Given the description of an element on the screen output the (x, y) to click on. 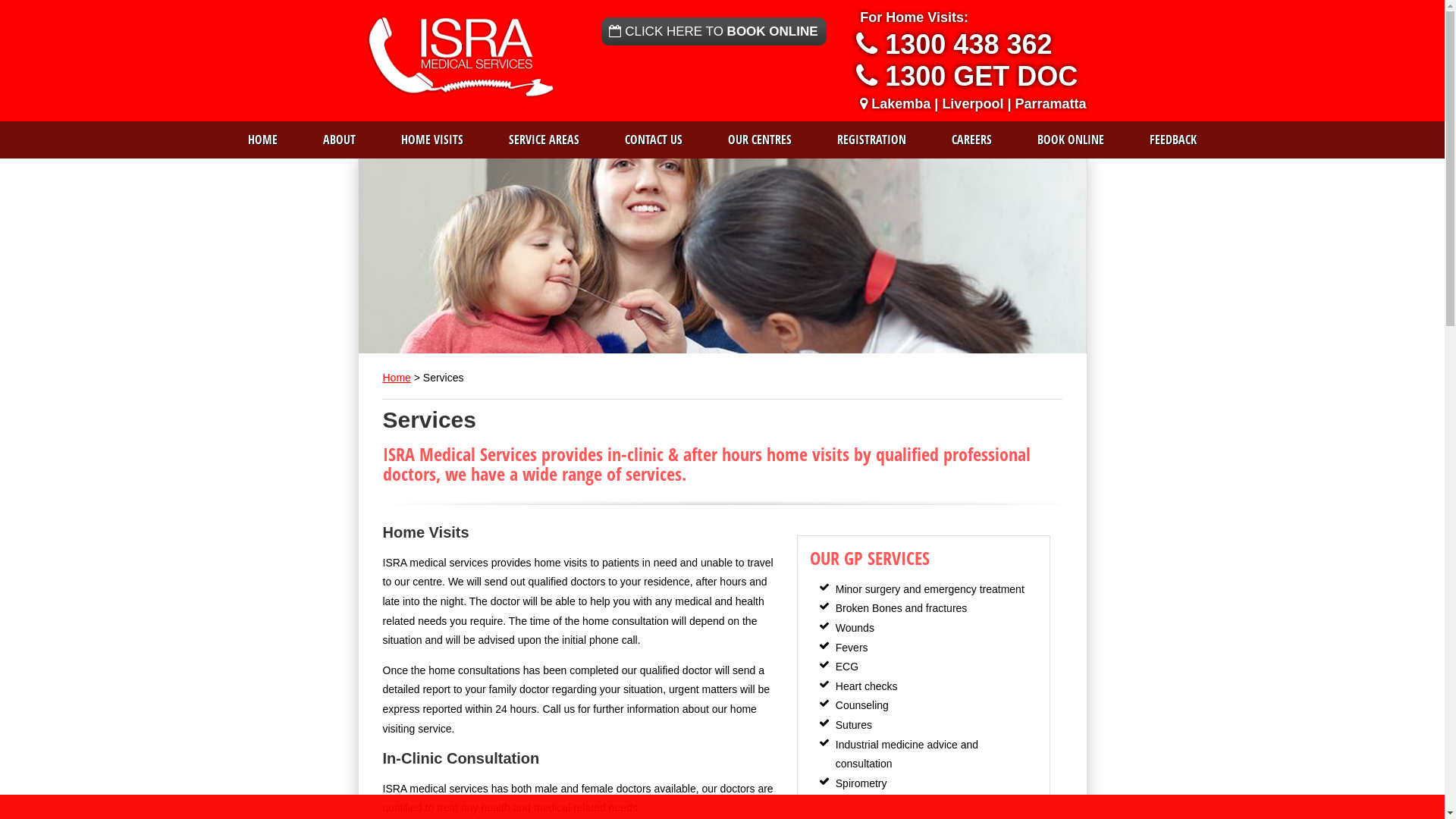
Home Element type: text (396, 377)
OUR CENTRES Element type: text (759, 139)
ABOUT Element type: text (339, 139)
CONTACT US Element type: text (653, 139)
FEEDBACK Element type: text (1172, 139)
Liverpool Element type: text (972, 103)
HOME VISITS Element type: text (432, 139)
BOOK ONLINE Element type: text (1070, 139)
CAREERS Element type: text (971, 139)
Parramatta Element type: text (1049, 103)
SERVICE AREAS Element type: text (544, 139)
Lakemba Element type: text (900, 103)
REGISTRATION Element type: text (871, 139)
HOME Element type: text (262, 139)
